Given the description of an element on the screen output the (x, y) to click on. 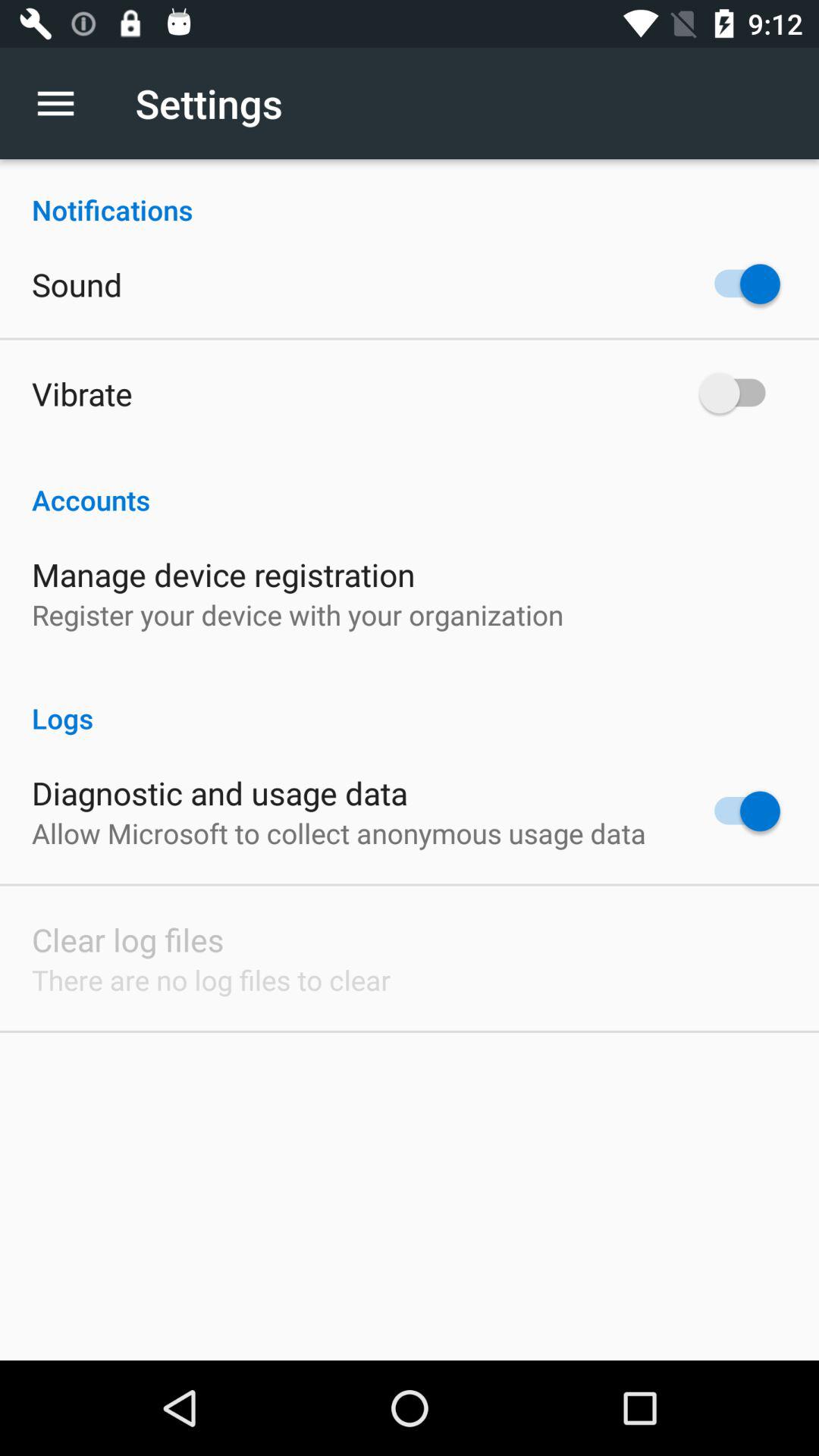
scroll until sound app (76, 283)
